Given the description of an element on the screen output the (x, y) to click on. 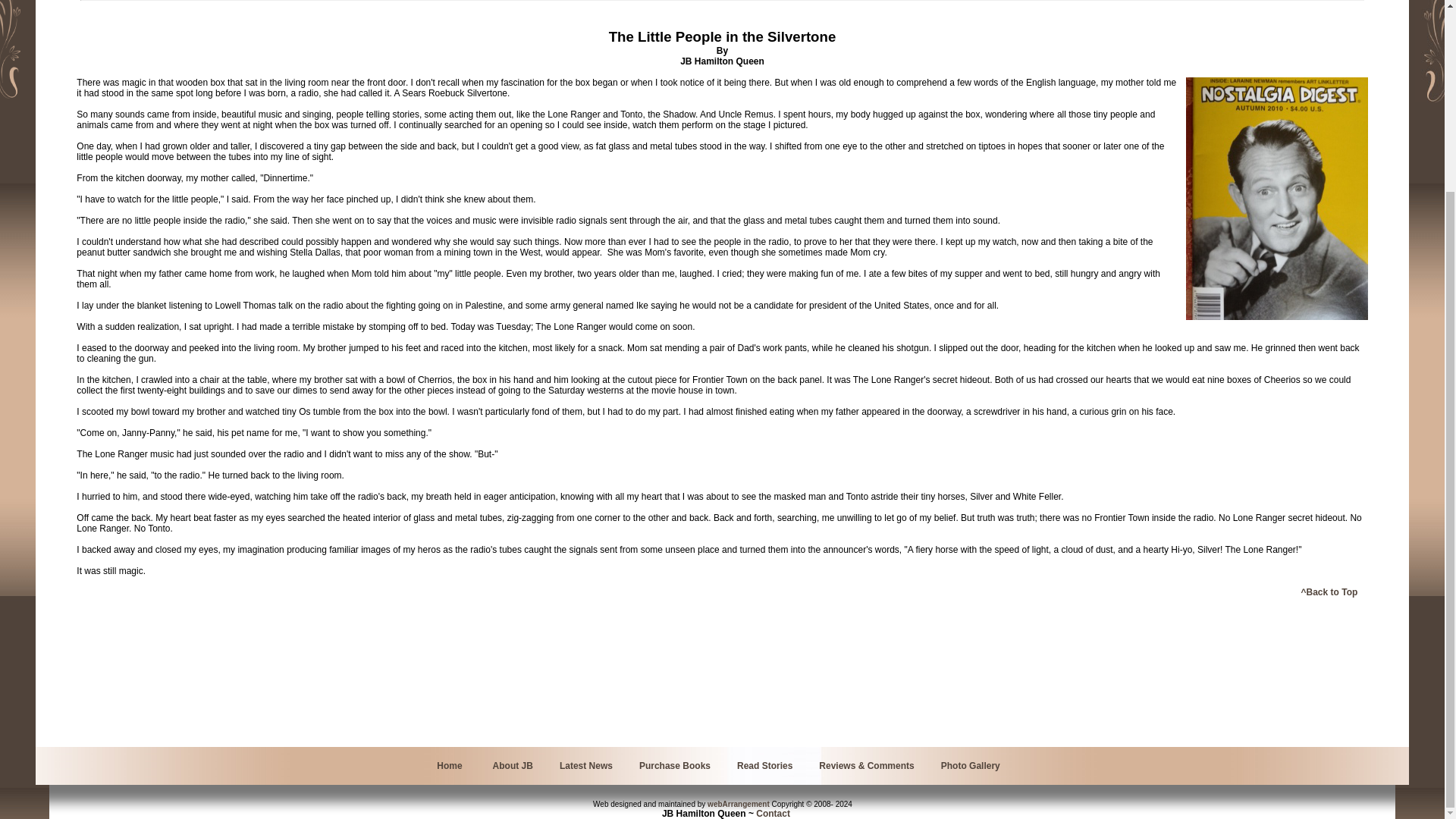
Home (448, 765)
Latest News (585, 765)
Purchase Books (674, 765)
Photo Gallery (970, 765)
webArrangement (738, 804)
Read Stories (764, 765)
About JB (512, 765)
